Given the description of an element on the screen output the (x, y) to click on. 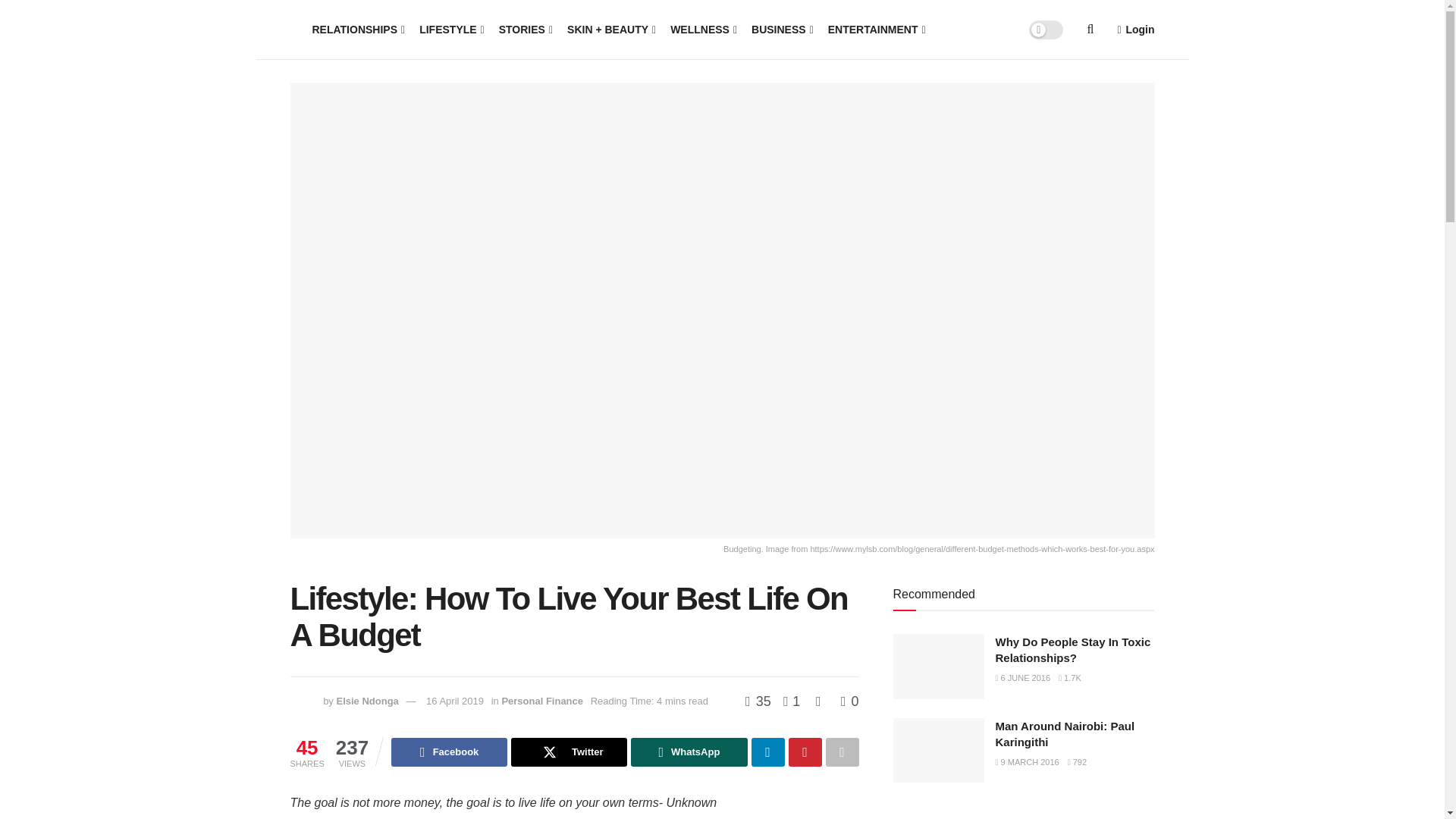
STORIES (524, 29)
BUSINESS (780, 29)
LIFESTYLE (450, 29)
RELATIONSHIPS (358, 29)
WELLNESS (702, 29)
ENTERTAINMENT (875, 29)
